Given the description of an element on the screen output the (x, y) to click on. 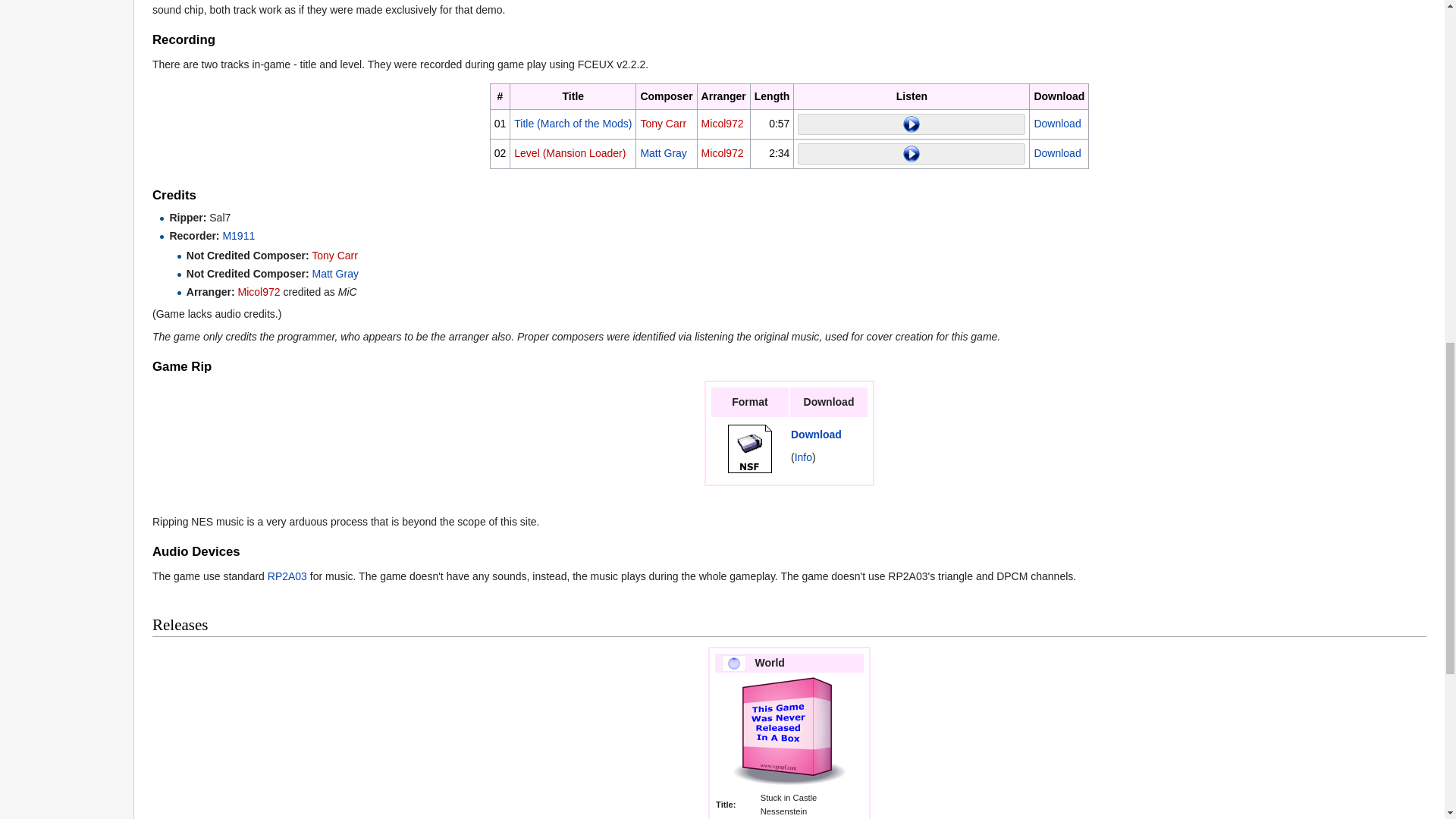
Micol972 (722, 152)
Play sound (911, 124)
Download (1056, 123)
Tony Carr (662, 123)
Micol972 (722, 123)
01 - Stuck in Castle Nessenstein - NES - Title.ogg (1056, 123)
Matt Gray (662, 152)
Download (1056, 152)
March Of The Mods (572, 123)
